Given the description of an element on the screen output the (x, y) to click on. 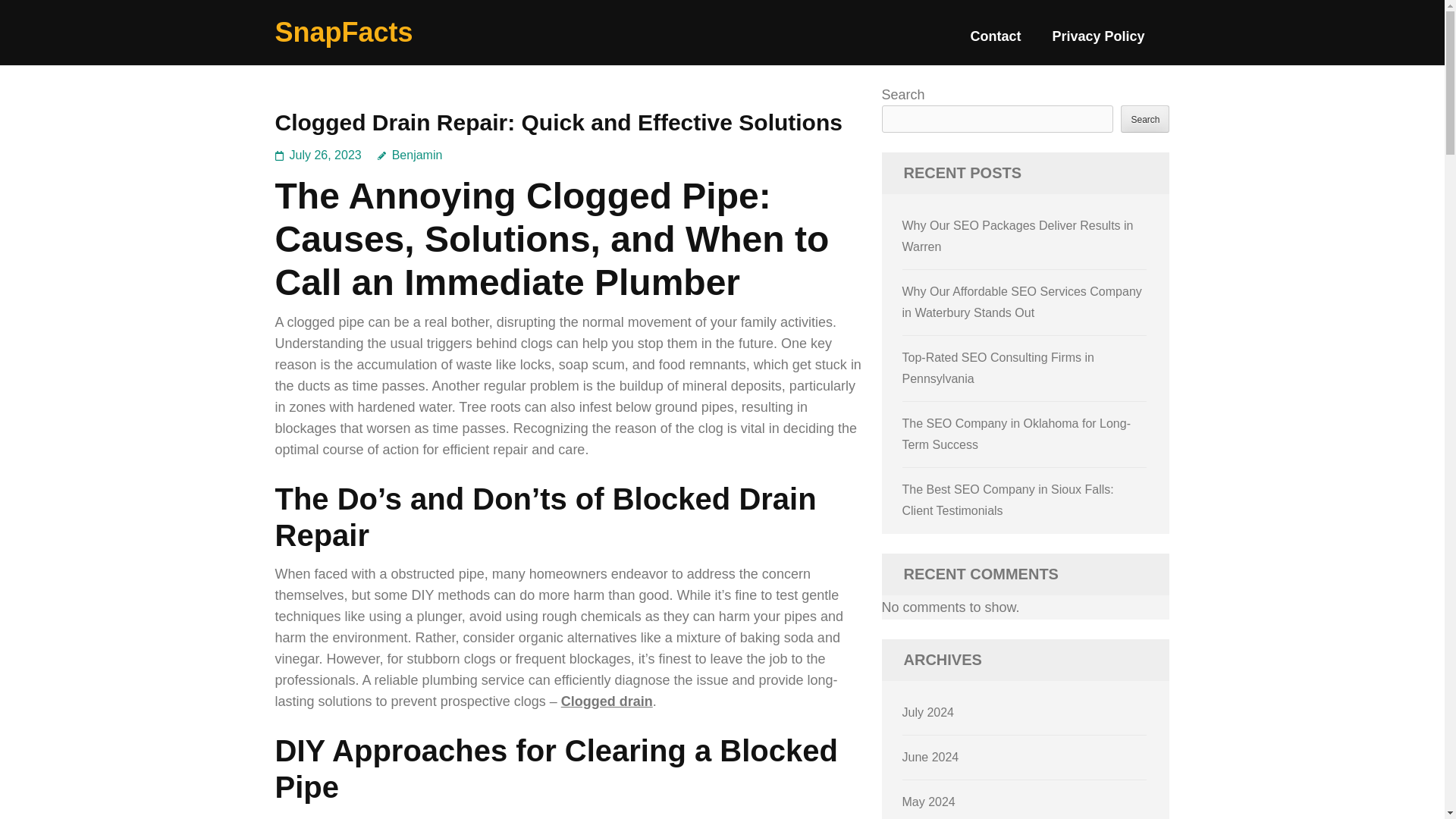
July 26, 2023 (325, 154)
Privacy Policy (1097, 42)
June 2024 (930, 757)
The Best SEO Company in Sioux Falls: Client Testimonials (1007, 499)
July 2024 (928, 712)
Search (1145, 118)
Top-Rated SEO Consulting Firms in Pennsylvania (998, 367)
Benjamin (409, 154)
Why Our SEO Packages Deliver Results in Warren (1018, 236)
SnapFacts (343, 31)
Clogged drain (606, 701)
The SEO Company in Oklahoma for Long-Term Success (1016, 433)
Contact (994, 42)
May 2024 (928, 801)
